Given the description of an element on the screen output the (x, y) to click on. 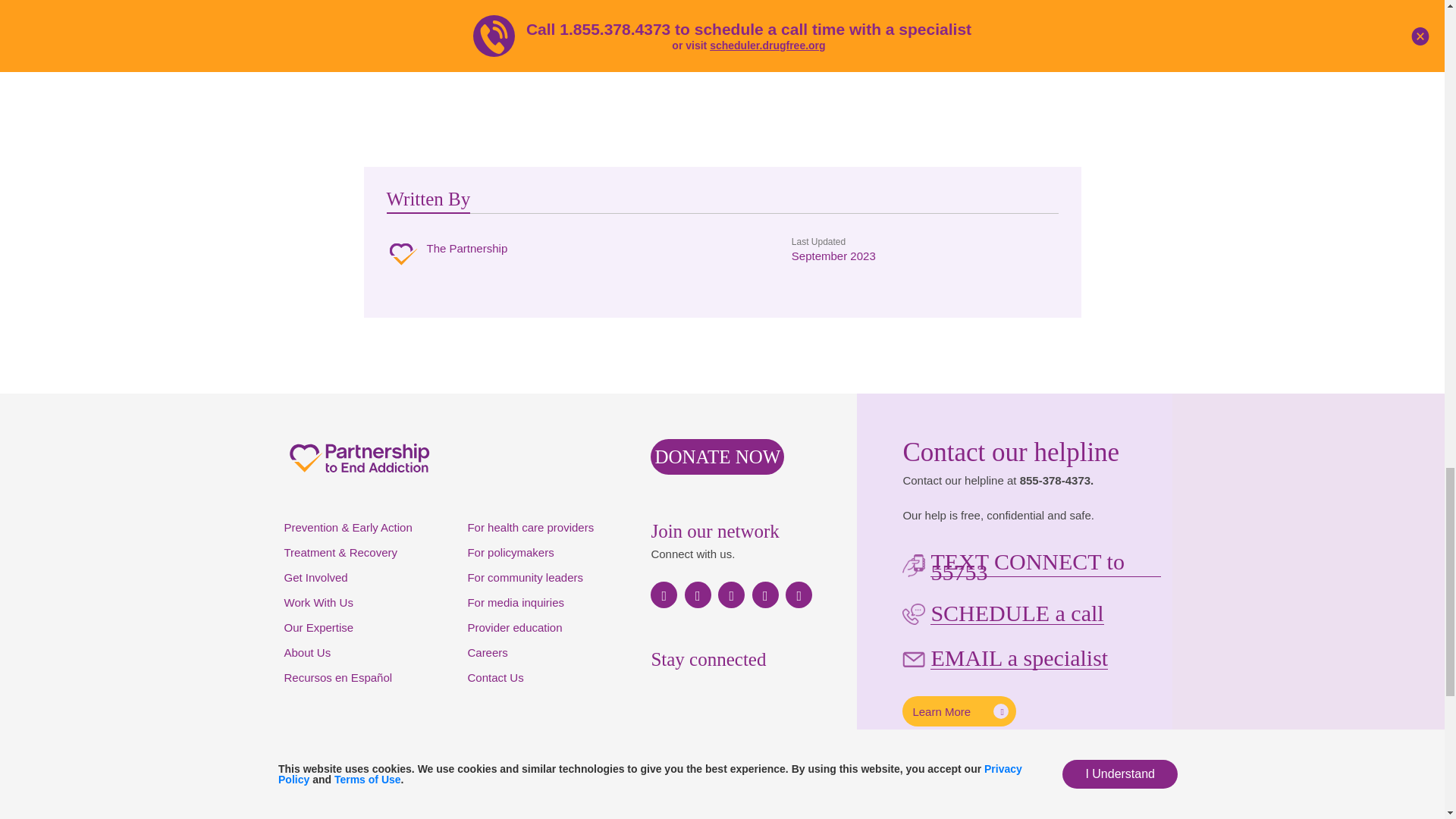
The Partnership (447, 256)
Written By (428, 201)
Form 0 (724, 755)
